Given the description of an element on the screen output the (x, y) to click on. 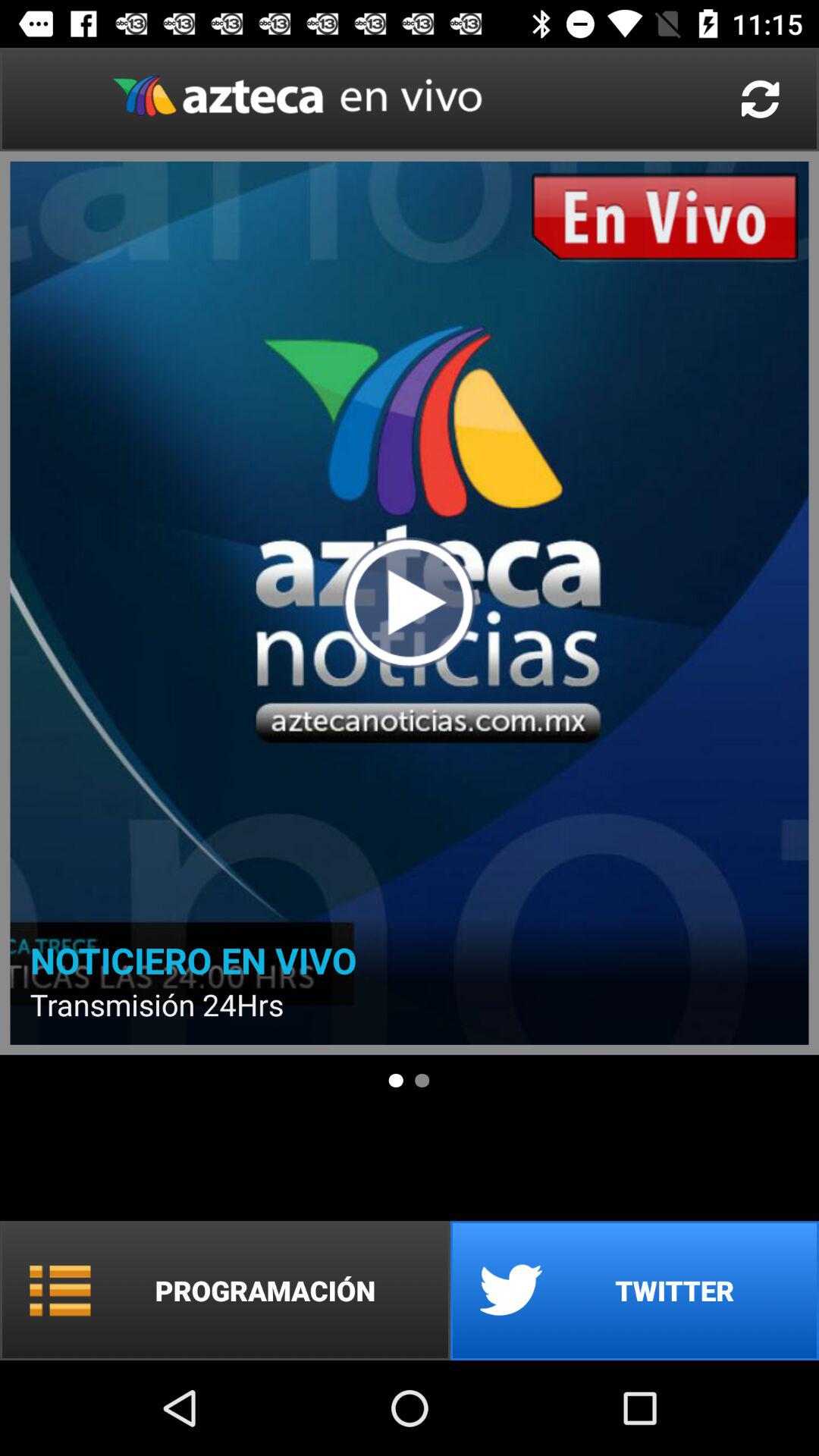
scroll to twitter (634, 1290)
